Given the description of an element on the screen output the (x, y) to click on. 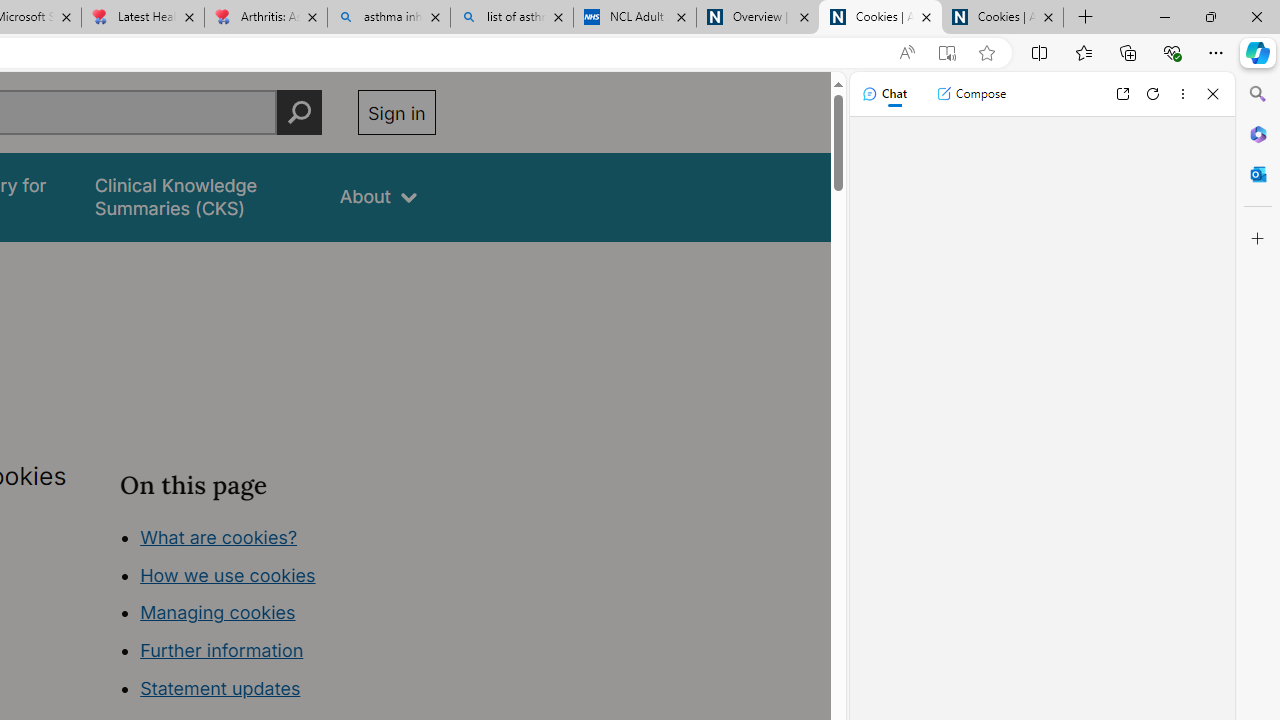
false (198, 196)
Compose (971, 93)
asthma inhaler - Search (388, 17)
What are cookies? (218, 536)
Perform search (299, 112)
